Given the description of an element on the screen output the (x, y) to click on. 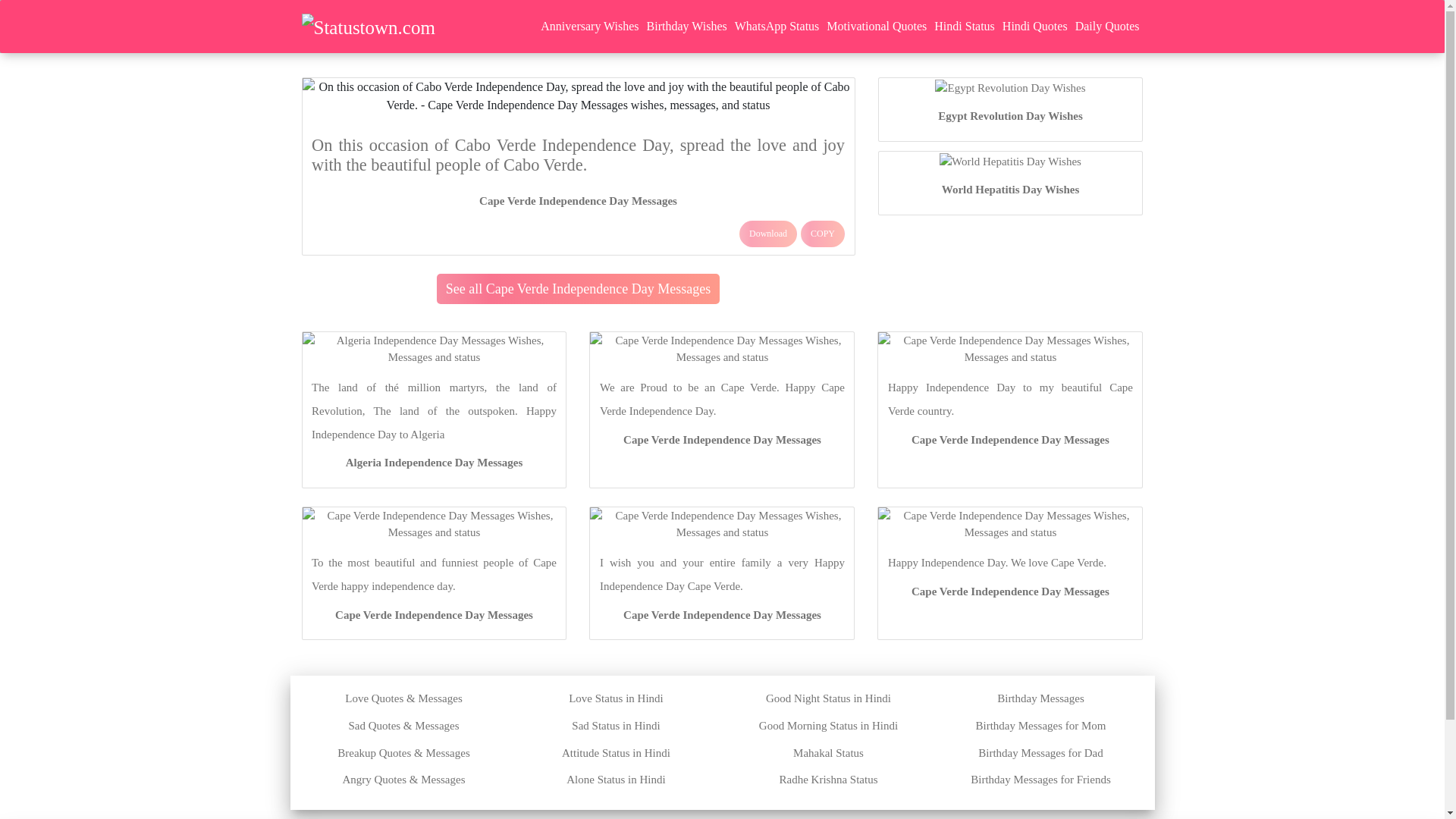
Cape Verde Independence Day Messages (578, 200)
Love Status in Hindi (616, 698)
Cape Verde Independence Day Messages quotes (722, 614)
World Hepatitis Day Wishes (1011, 189)
Hindi Status (964, 26)
Egypt Revolution Day Wishes (1010, 115)
Egypt Revolution Day Wishes (1009, 87)
